Given the description of an element on the screen output the (x, y) to click on. 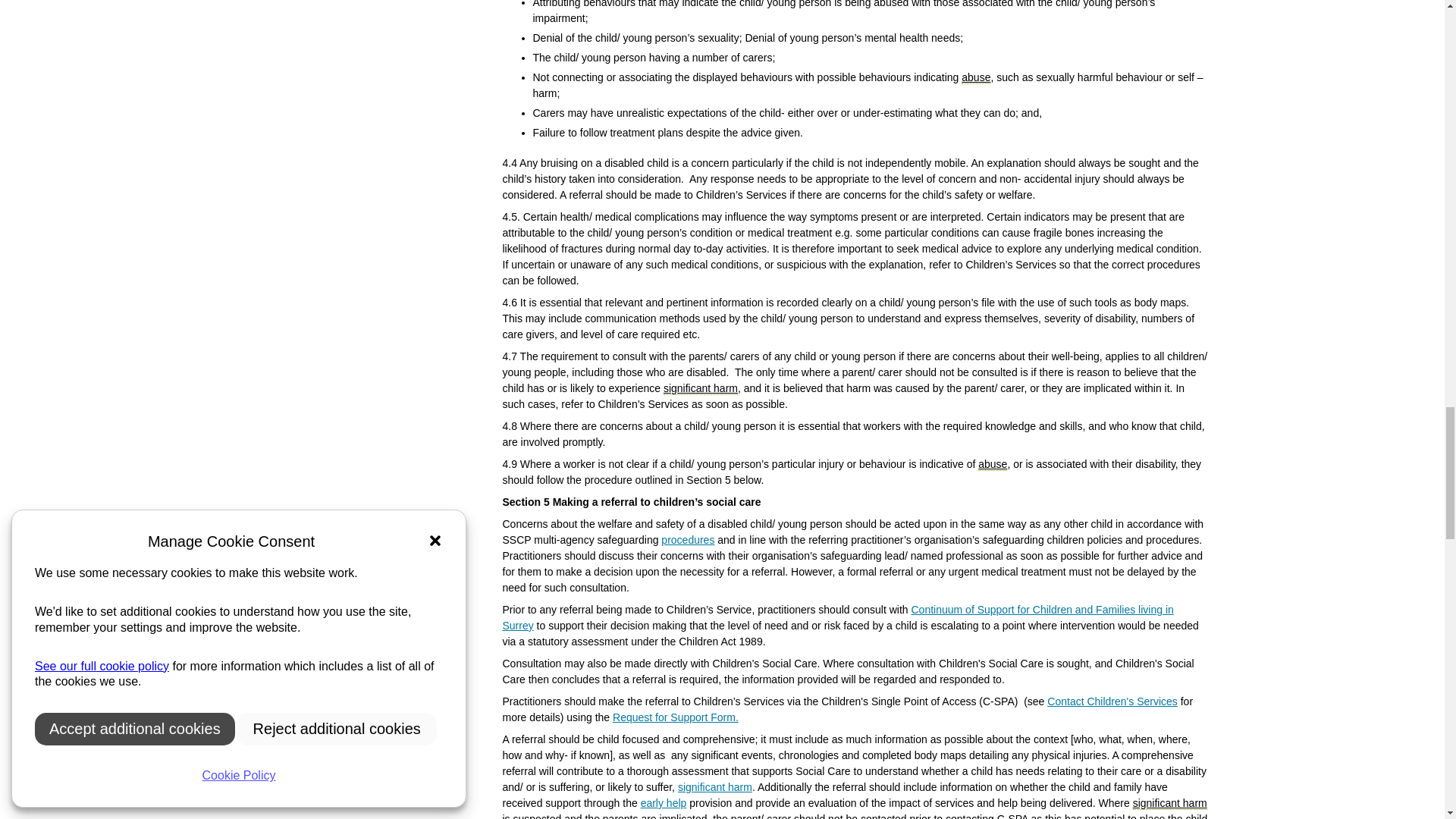
abuse (992, 463)
abuse (975, 77)
procedures (687, 539)
significant harm (700, 388)
